Given the description of an element on the screen output the (x, y) to click on. 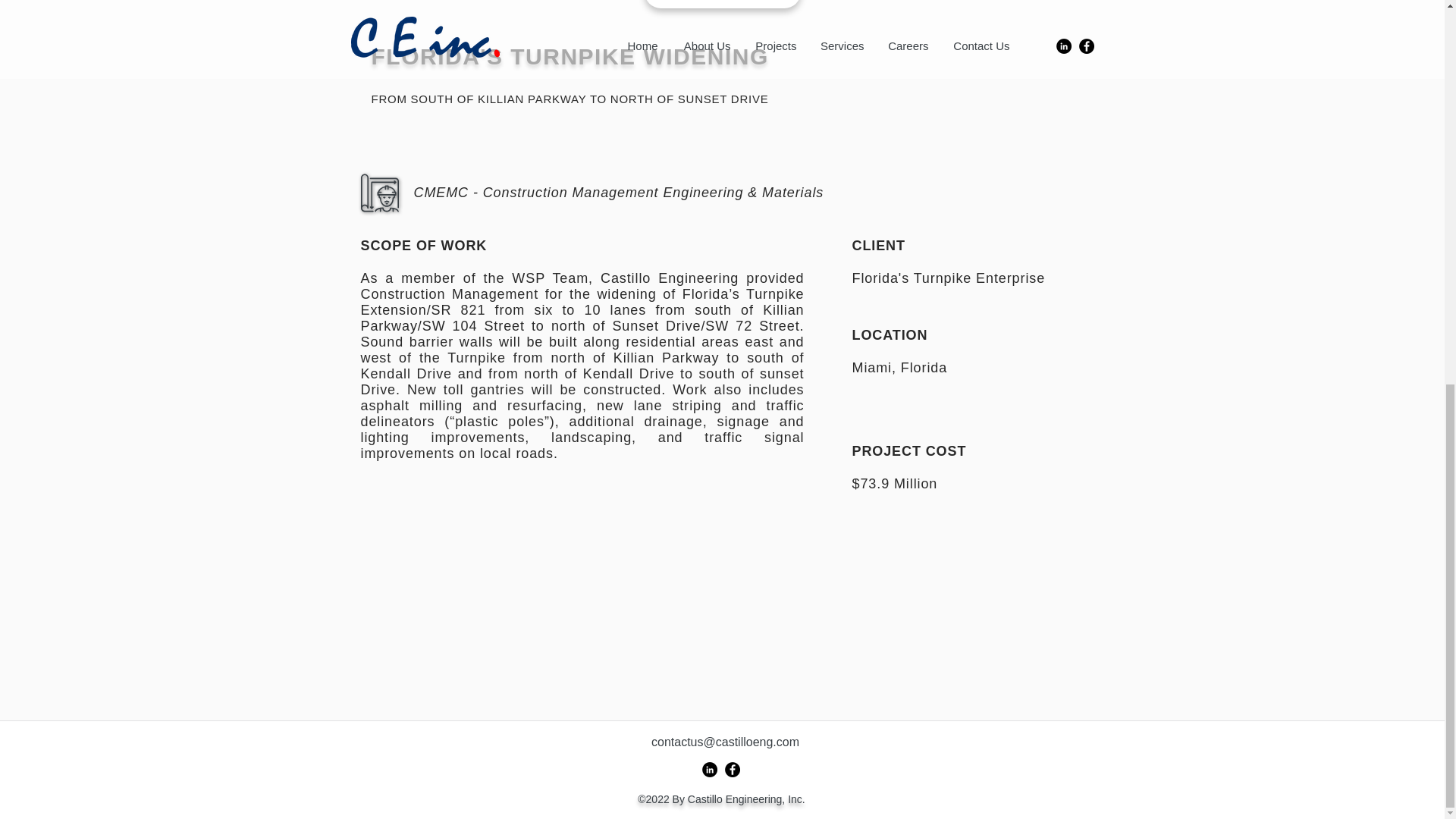
Go Back to Projects (722, 4)
